Given the description of an element on the screen output the (x, y) to click on. 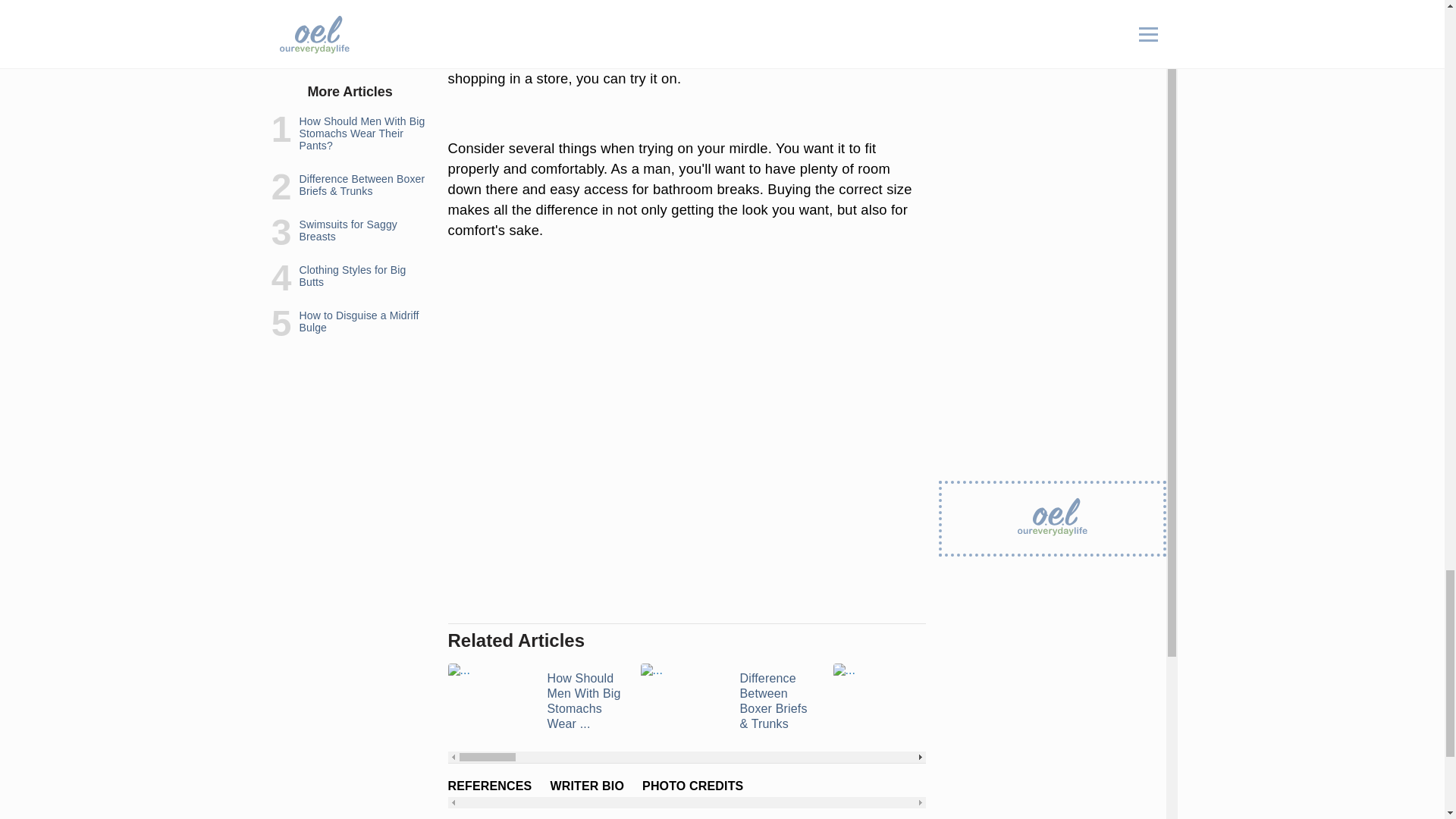
How Should Men With Big Stomachs Wear ... (533, 701)
Clothing Styles for Big Butts (1112, 701)
Swimsuits for Saggy Breasts (919, 701)
chest measurement (694, 2)
How to Disguise a Midriff Bulge (1304, 701)
